Given the description of an element on the screen output the (x, y) to click on. 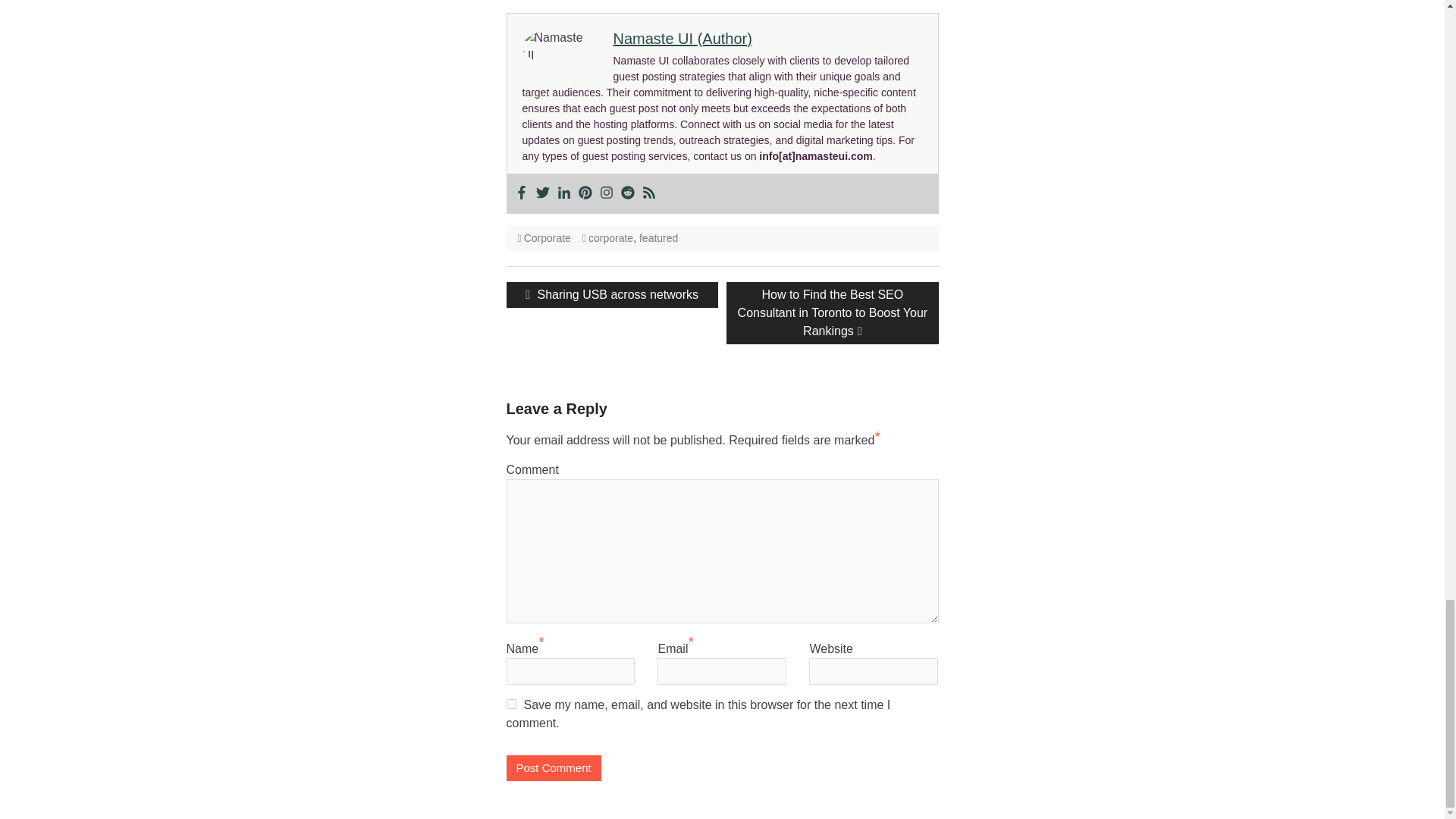
yes (511, 704)
Post Comment (553, 768)
